Given the description of an element on the screen output the (x, y) to click on. 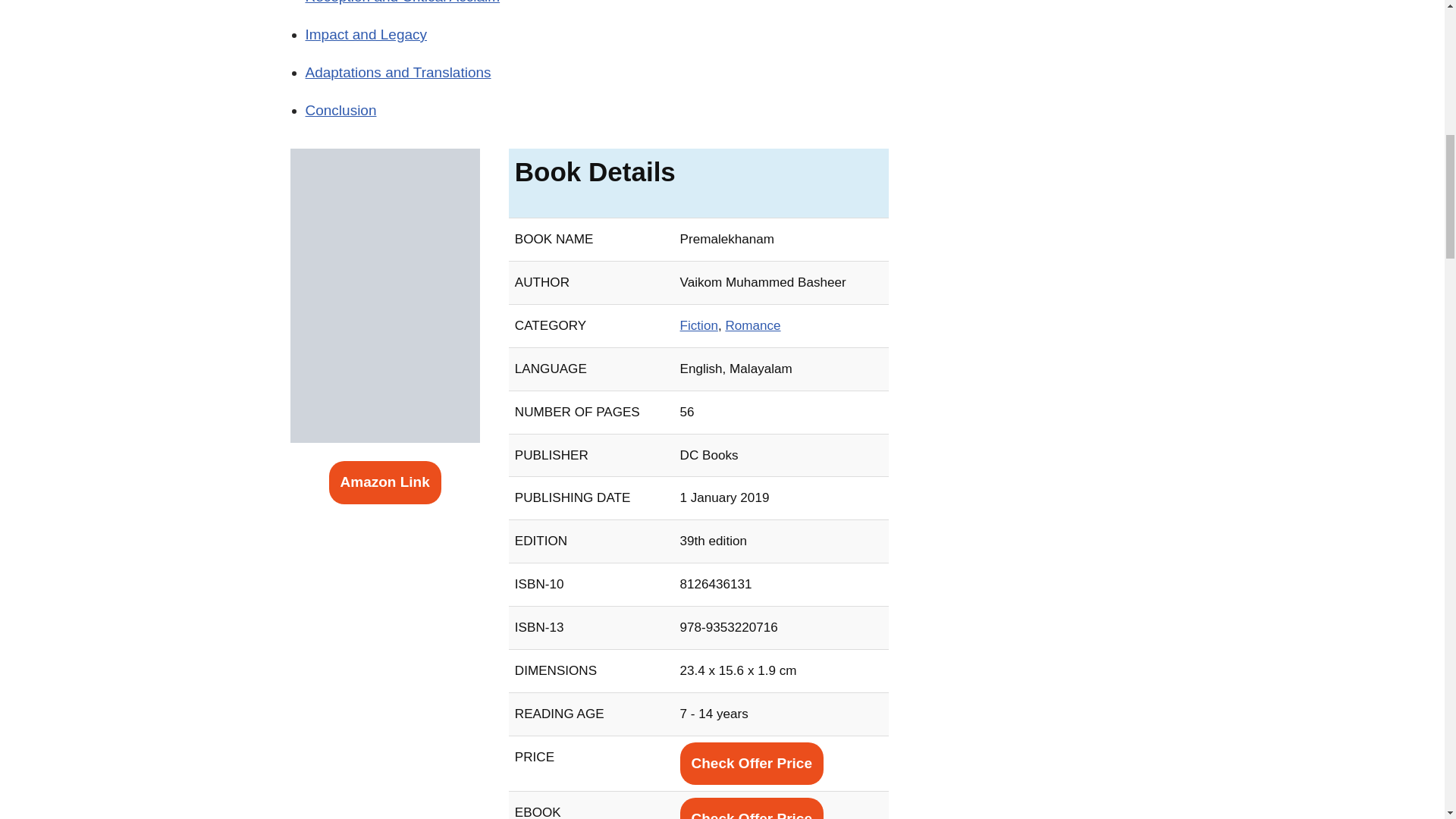
Conclusion (339, 109)
Check Offer Price (751, 808)
Check Offer Price (751, 763)
Amazon Link (385, 482)
Romance (752, 325)
Impact and Legacy (365, 34)
Adaptations and Translations (397, 72)
Reception and Critical Acclaim (401, 2)
Fiction (698, 325)
